Given the description of an element on the screen output the (x, y) to click on. 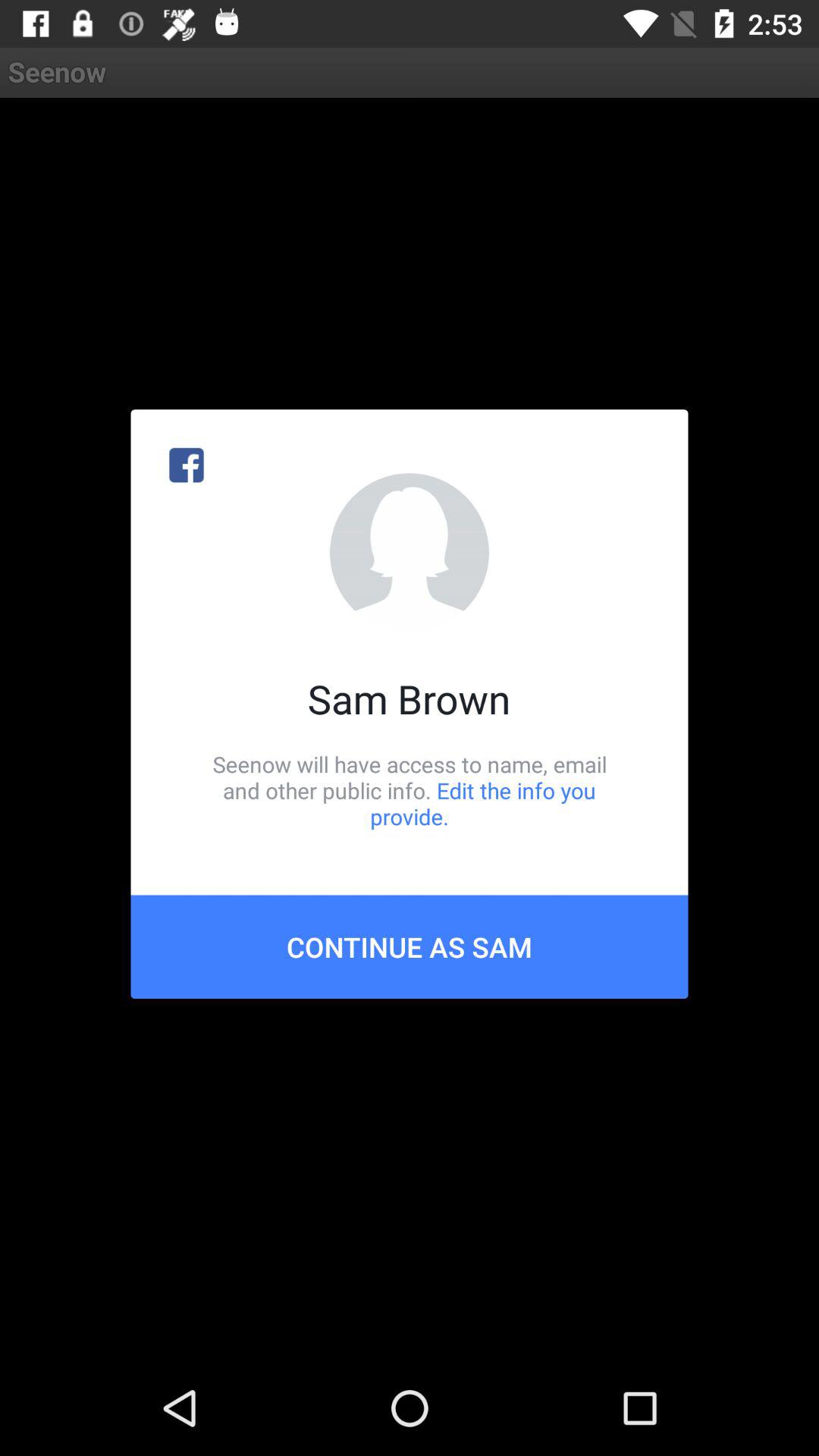
jump to the seenow will have item (409, 790)
